Given the description of an element on the screen output the (x, y) to click on. 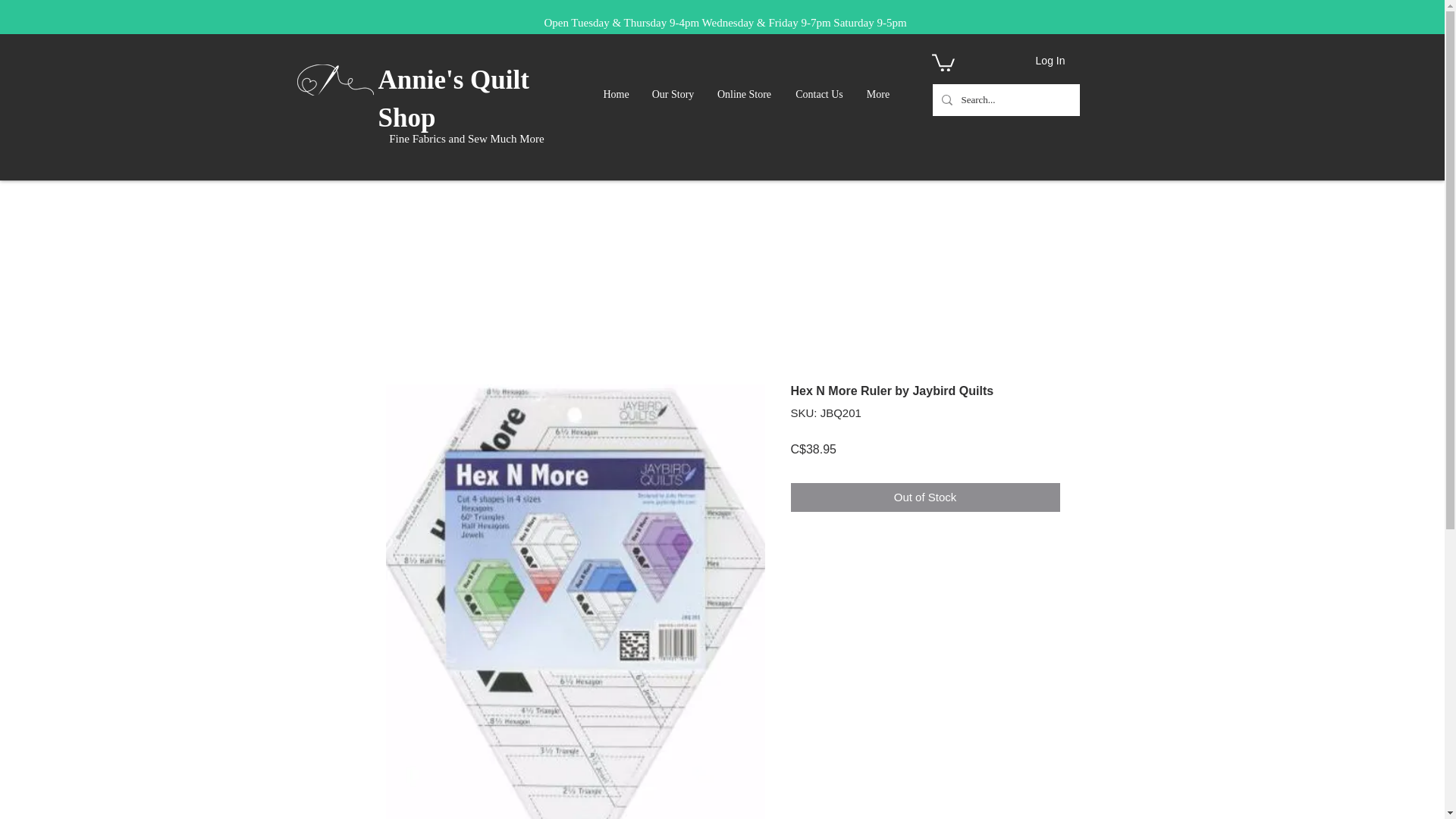
Online Store (745, 94)
Annie's Quilt Shop (452, 98)
Home (615, 94)
Fine Fabrics and Sew Much More (466, 138)
Our Story (674, 94)
Contact Us (819, 94)
